Given the description of an element on the screen output the (x, y) to click on. 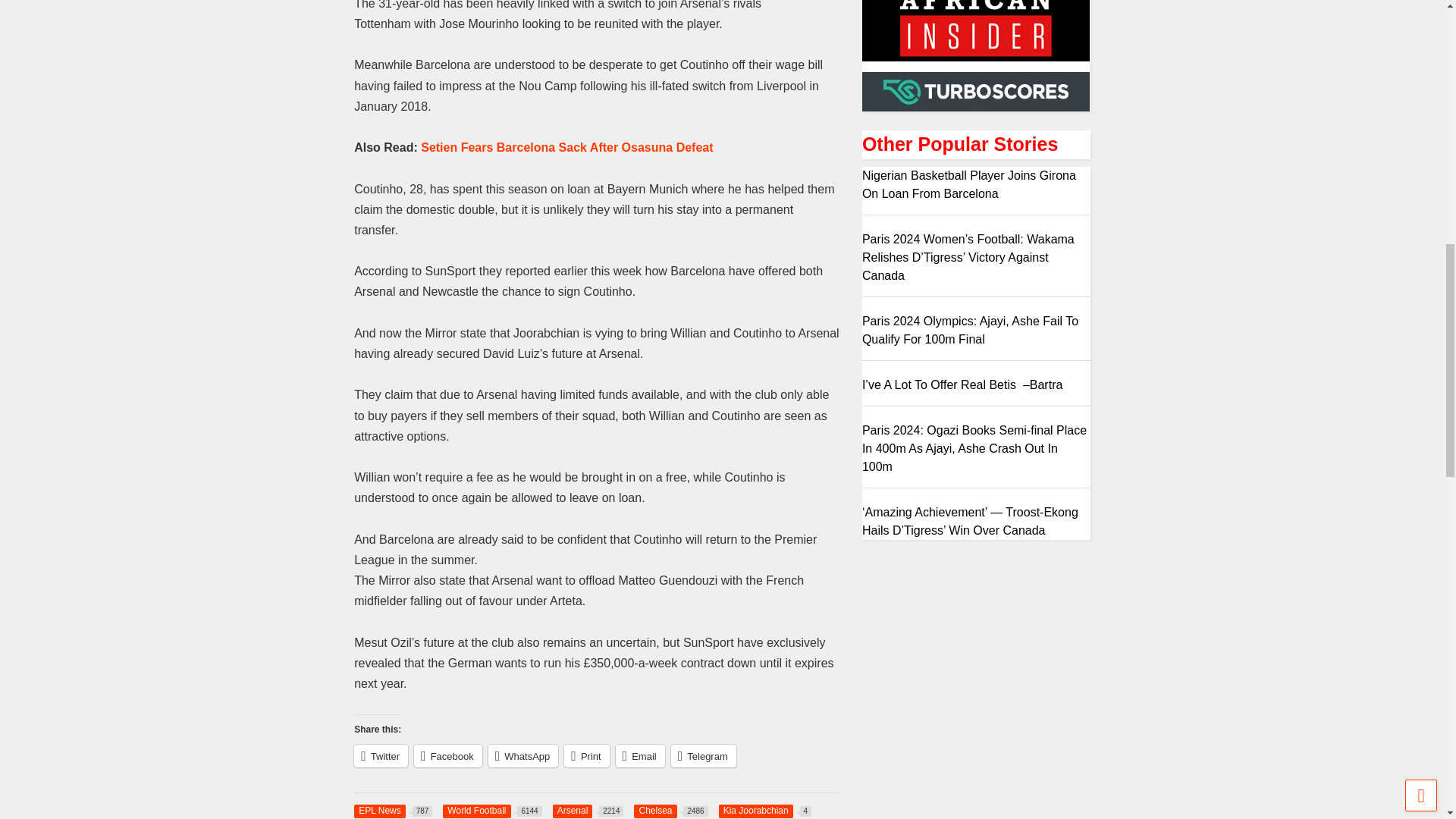
Click to email a link to a friend (640, 755)
Click to print (586, 755)
Click to share on WhatsApp (523, 755)
Click to share on Facebook (447, 755)
Click to share on Telegram (703, 755)
Click to share on Twitter (380, 755)
